Given the description of an element on the screen output the (x, y) to click on. 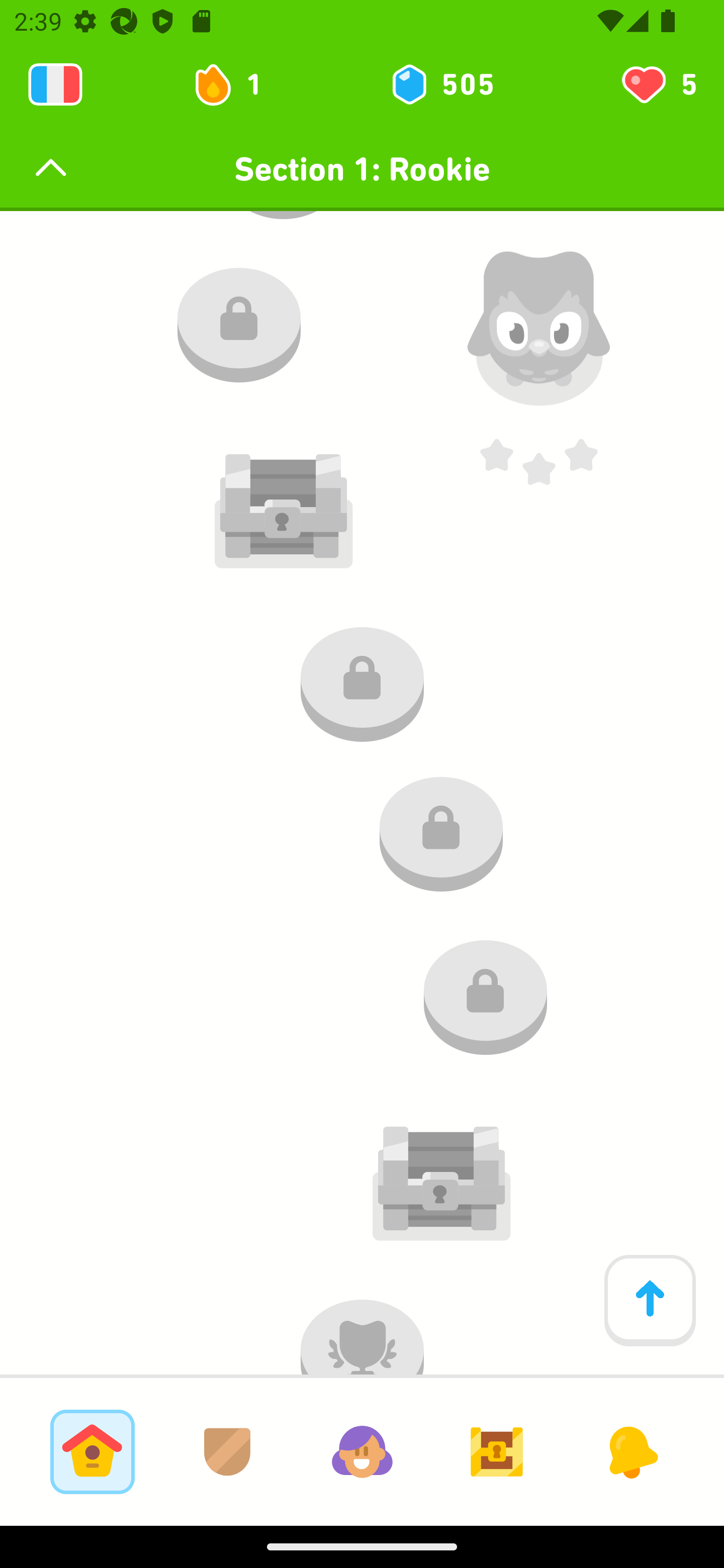
Learning 2131888976 (55, 84)
1 day streak 1 (236, 84)
505 (441, 84)
You have 5 hearts left 5 (657, 84)
Section 1: Rookie (362, 169)
Learn Tab (91, 1451)
Leagues Tab (227, 1451)
Profile Tab (361, 1451)
Goals Tab (496, 1451)
News Tab (631, 1451)
